Given the description of an element on the screen output the (x, y) to click on. 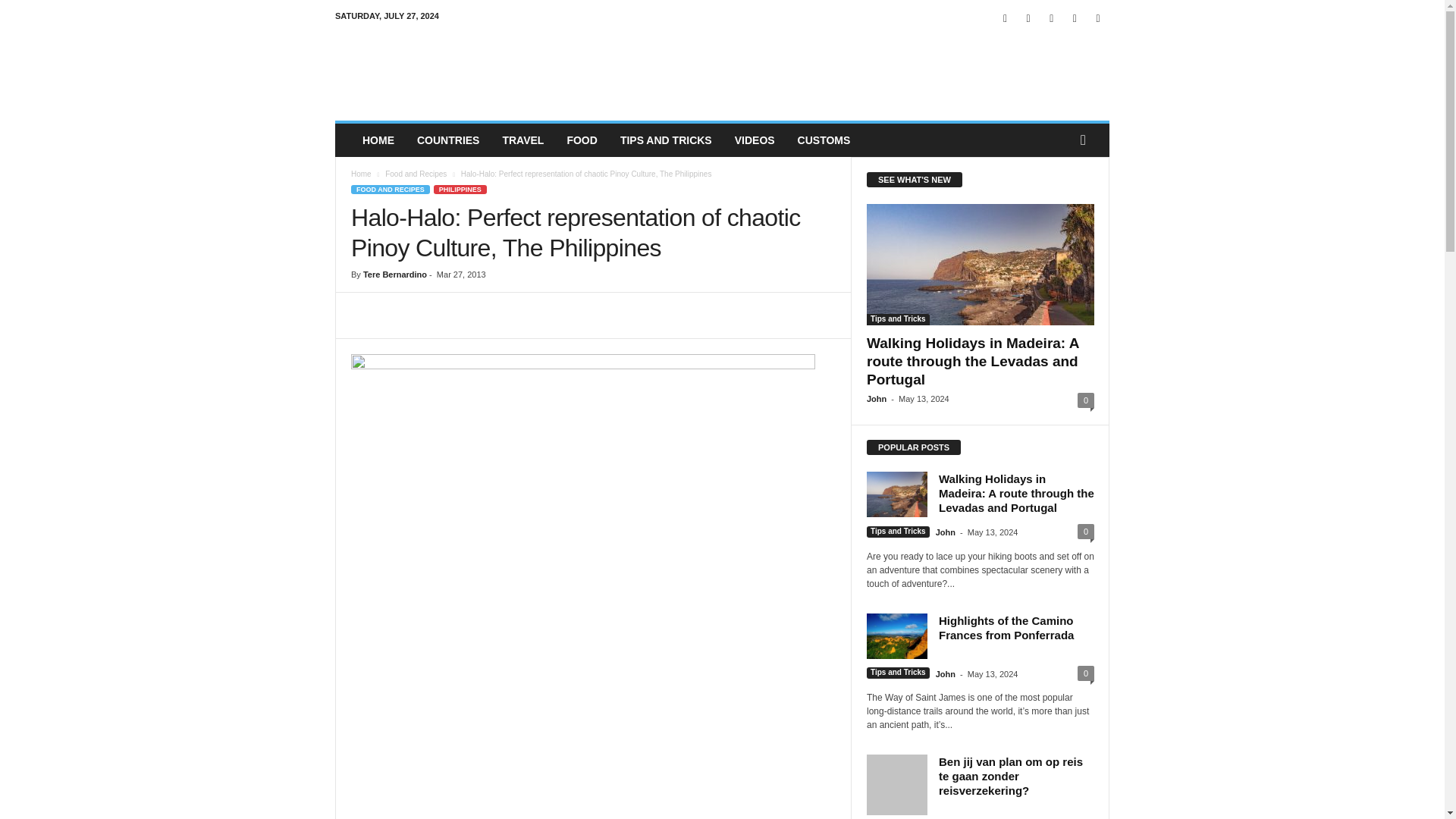
The Daily Roar (437, 70)
